Given the description of an element on the screen output the (x, y) to click on. 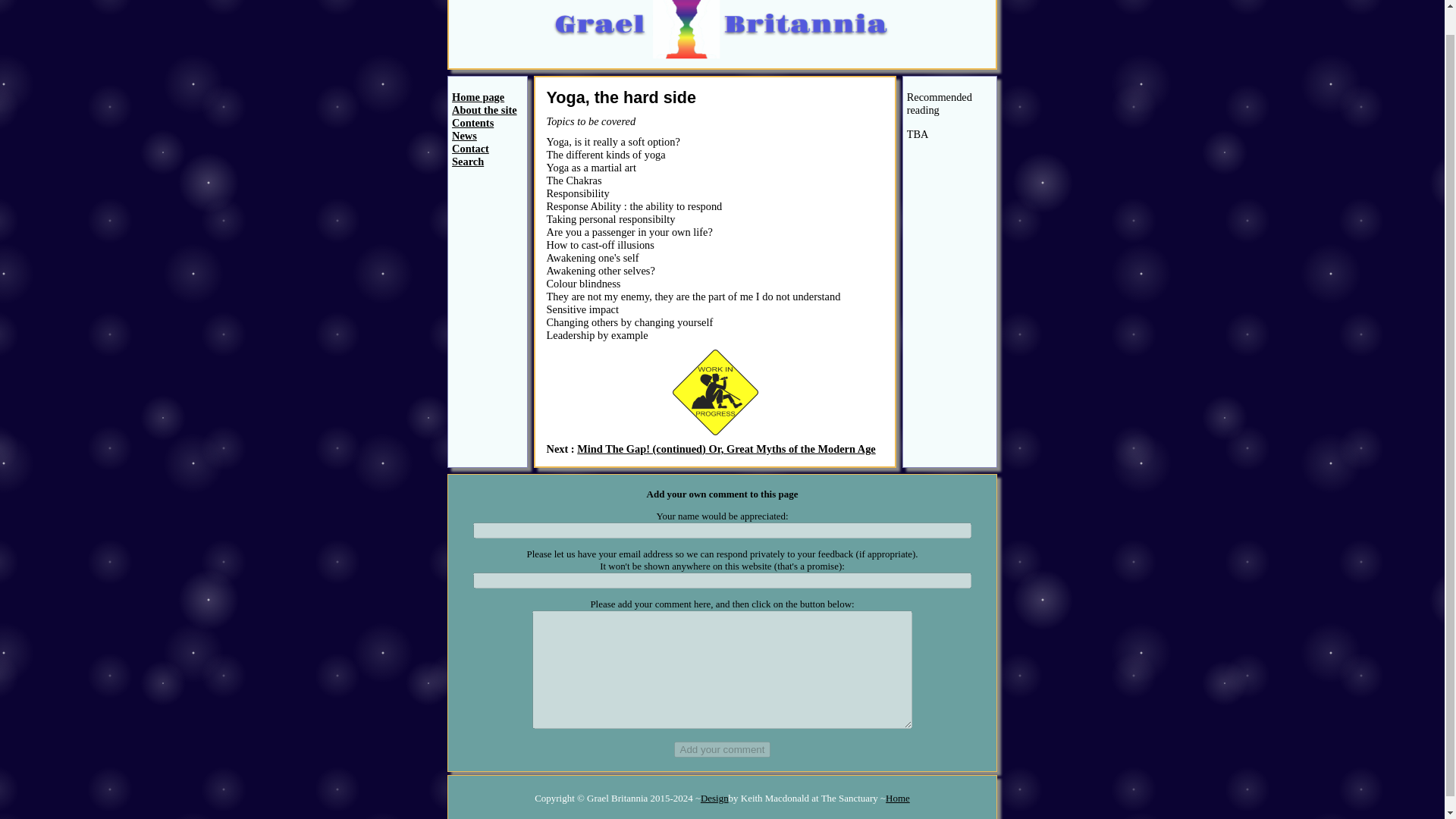
Home page (477, 96)
News (464, 135)
Contact (470, 148)
Contents (472, 122)
Search (467, 161)
About the site (483, 110)
